Given the description of an element on the screen output the (x, y) to click on. 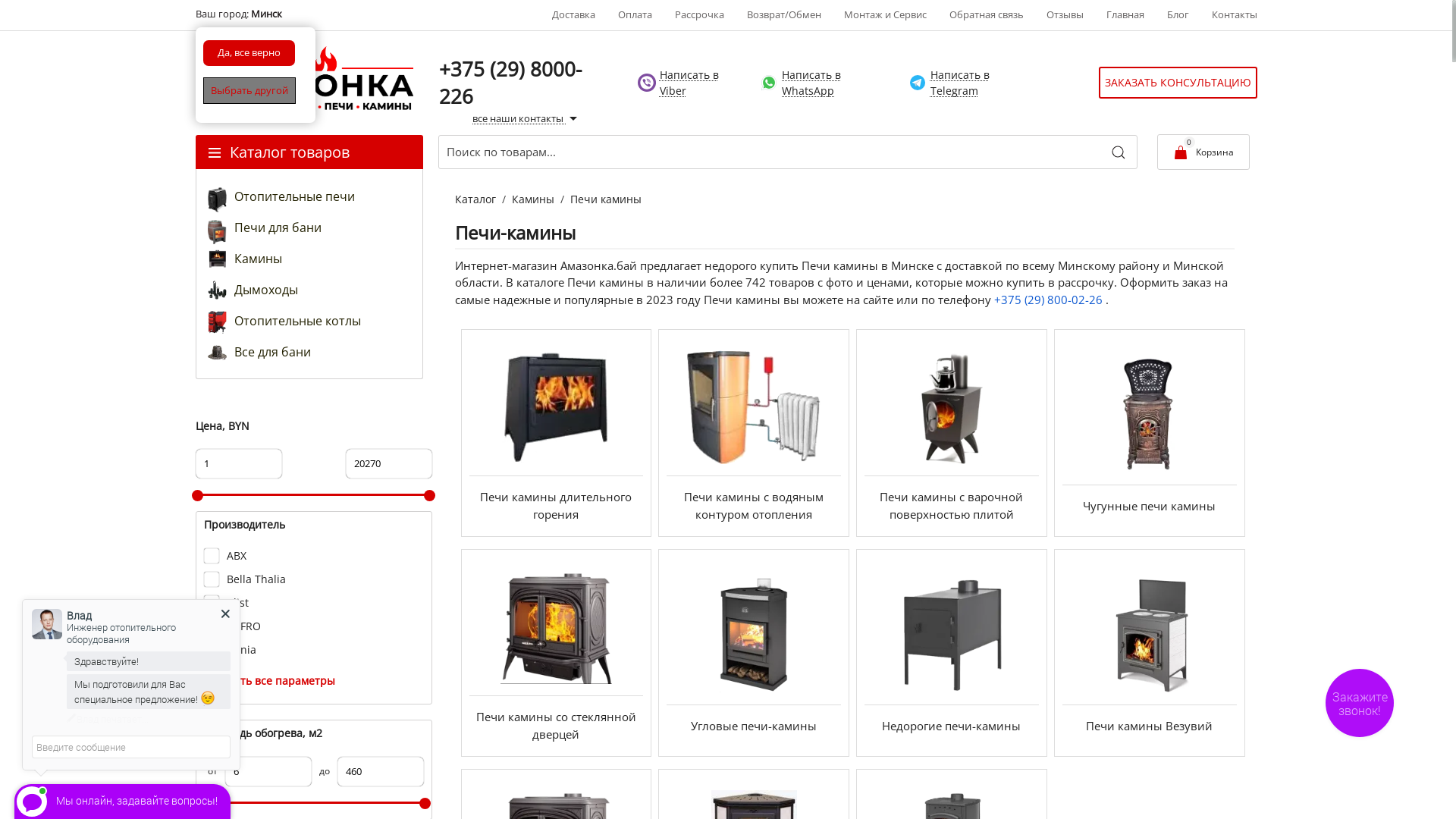
+375 (29) 800-02-26 Element type: text (1048, 299)
+375 (29) 8000-226 Element type: text (509, 81)
